Given the description of an element on the screen output the (x, y) to click on. 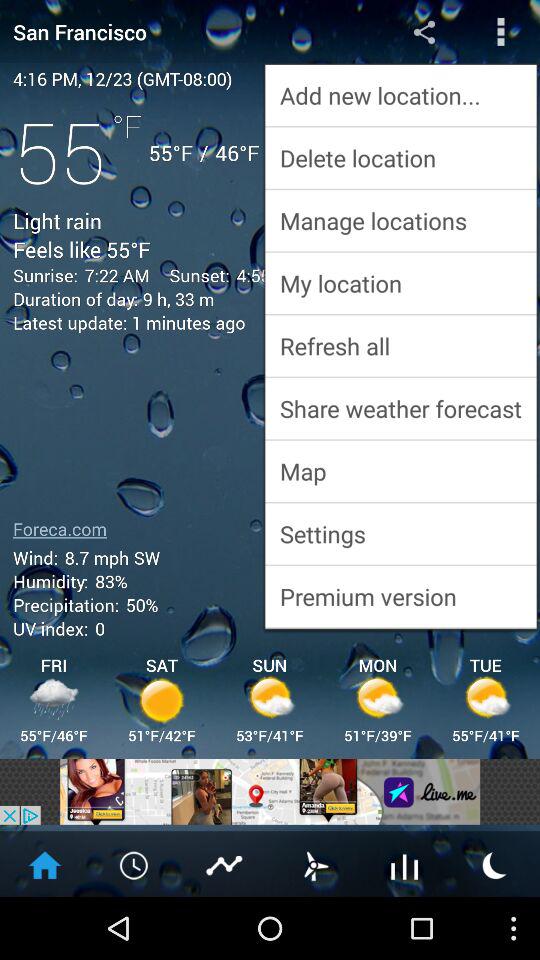
swipe to settings app (400, 533)
